Given the description of an element on the screen output the (x, y) to click on. 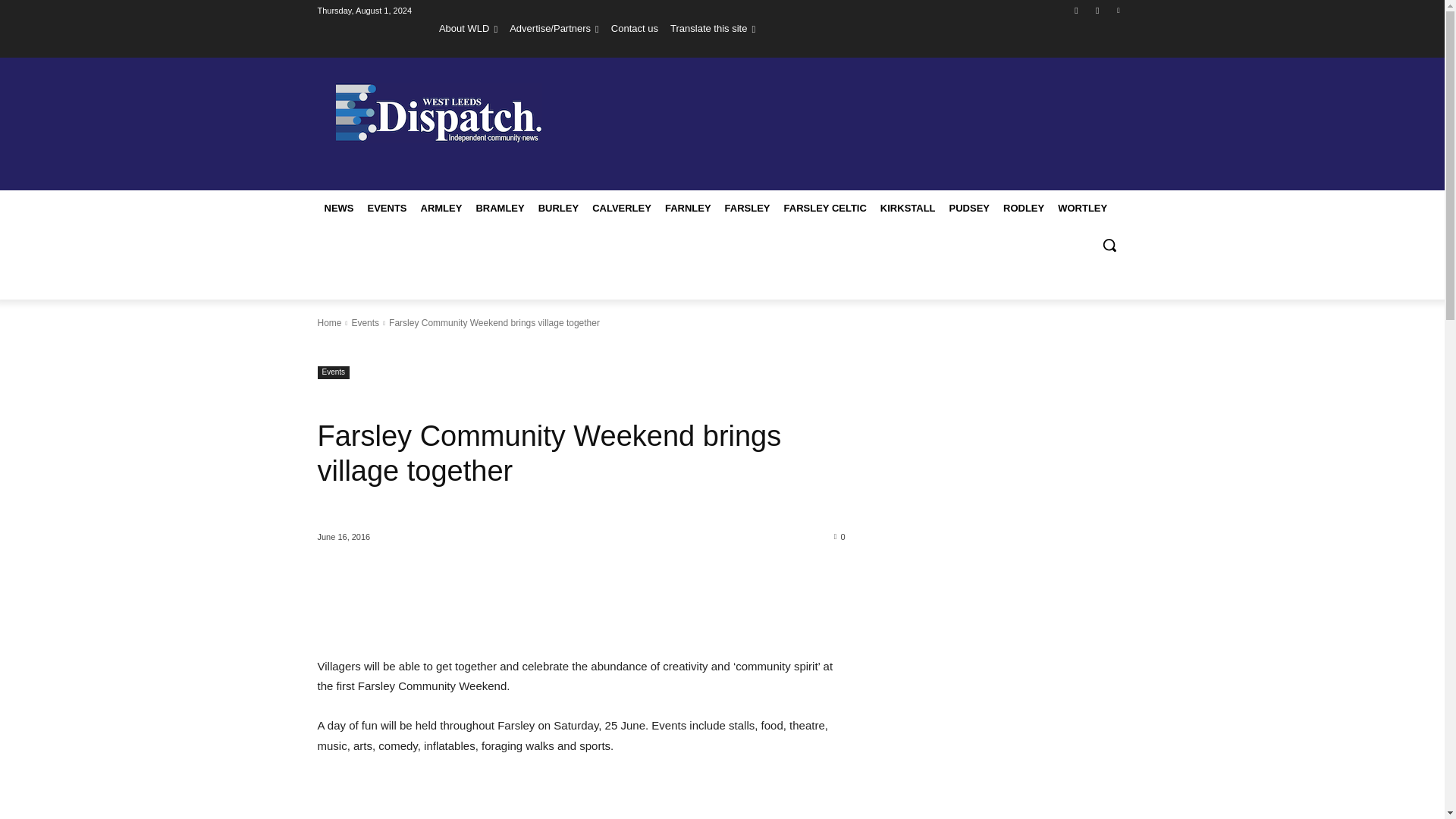
Translate this site (712, 28)
About WLD (468, 28)
Contact us (634, 28)
